Given the description of an element on the screen output the (x, y) to click on. 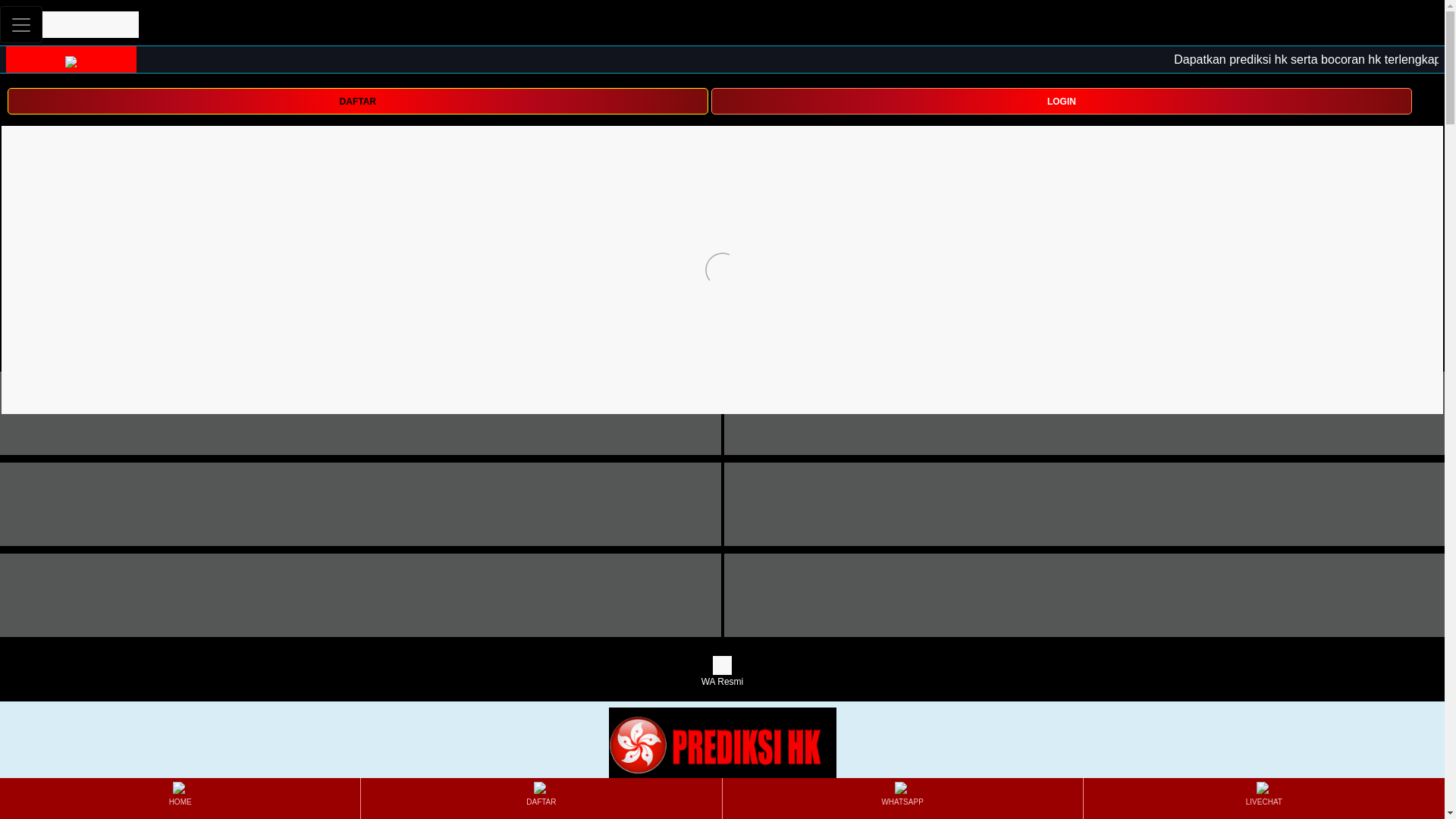
LOGIN (1061, 100)
WA Resmi (722, 672)
DAFTAR (357, 100)
WHATSAPP (901, 798)
DAFTAR (357, 100)
LIVECHAT (1263, 798)
HOME (179, 798)
LOGIN (1061, 100)
DAFTAR (540, 798)
